Given the description of an element on the screen output the (x, y) to click on. 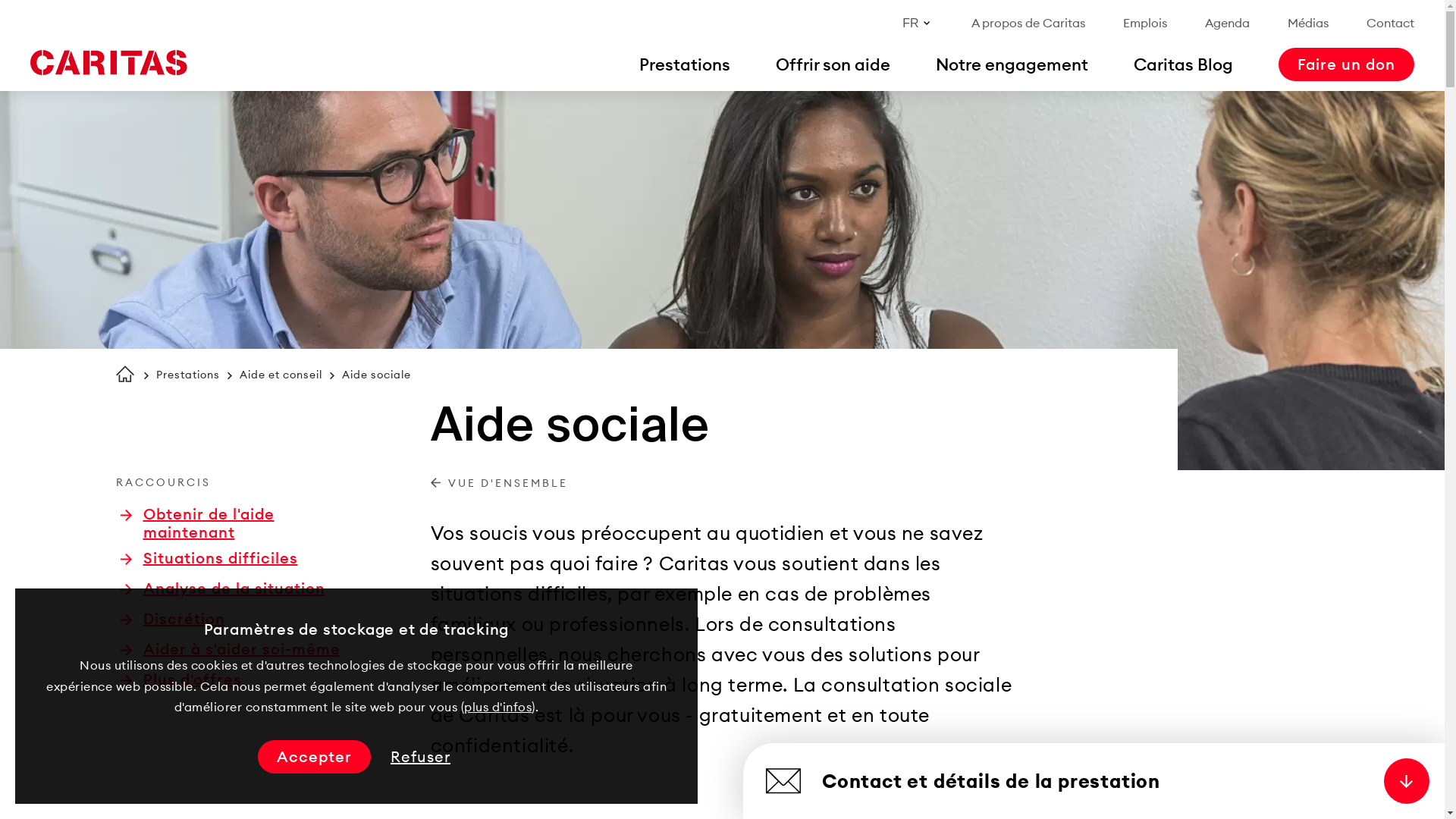
Contact Element type: text (1390, 22)
Emplois Element type: text (1145, 22)
Analyse de la situation Element type: text (222, 588)
Offrir son aide Element type: text (832, 64)
Page d'accueil Element type: text (108, 62)
Plus d'offres Element type: text (180, 679)
Aide et conseil Element type: text (280, 375)
Agenda Element type: text (1226, 22)
Faire un don Element type: text (1346, 64)
A propos de Caritas Element type: text (1028, 22)
Caritas Blog Element type: text (1183, 64)
Obtenir de l'aide maintenant Element type: text (236, 523)
Page d'accueil Element type: text (124, 373)
Notre engagement Element type: text (1011, 64)
Prestations Element type: text (684, 64)
Open sub menu Element type: text (18, 18)
Refuser Element type: text (420, 756)
Accepter Element type: text (313, 756)
Prestations Element type: text (187, 375)
VUE D'ENSEMBLE Element type: text (498, 482)
plus d'infos Element type: text (497, 706)
Situations difficiles Element type: text (208, 557)
